Given the description of an element on the screen output the (x, y) to click on. 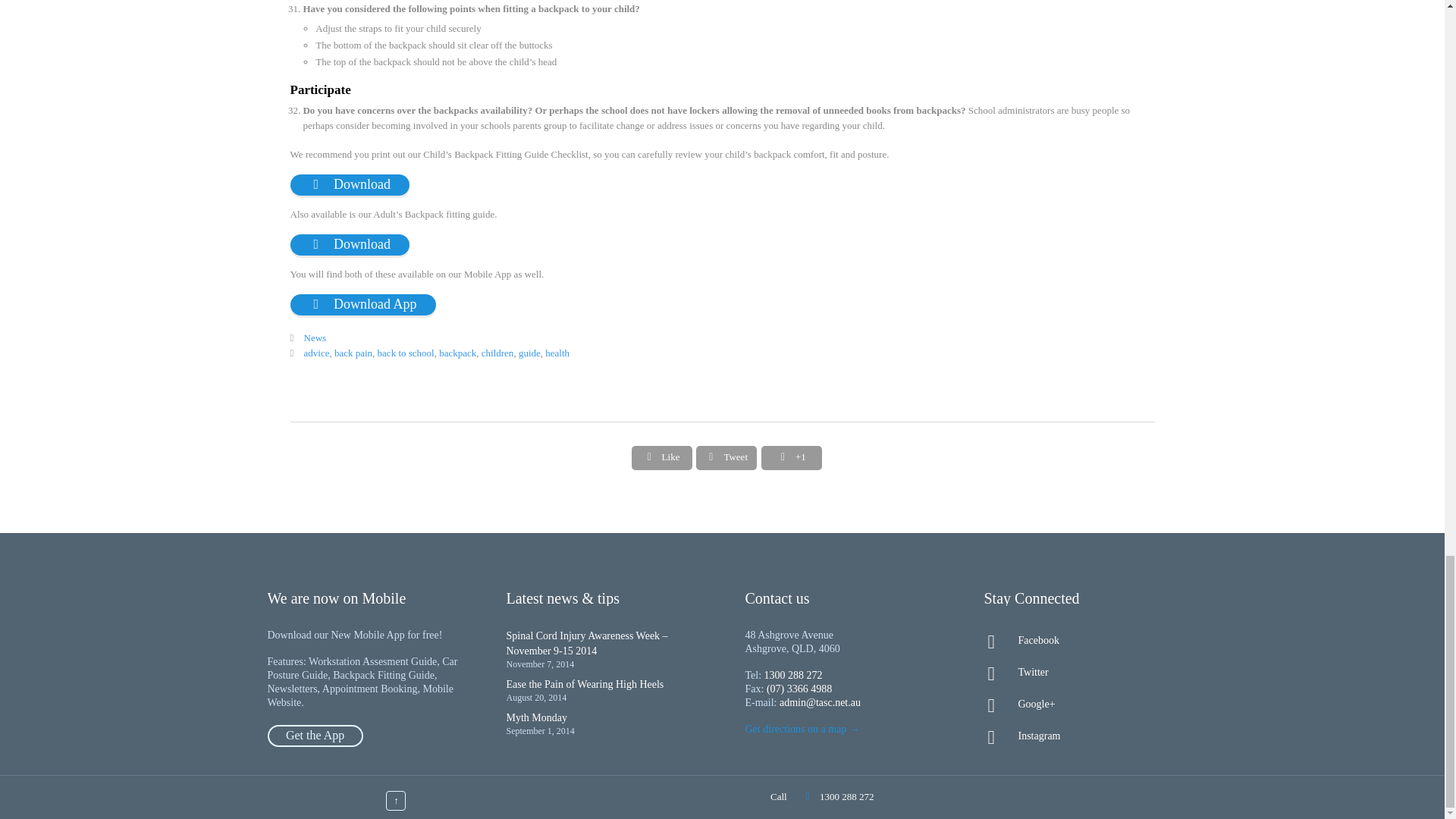
Share on Twitter (726, 456)
Share on Google Plus (791, 456)
Myth Monday (536, 717)
Facebook (1080, 640)
Ease the Pain of Wearing High Heels (584, 684)
Instagram (1080, 735)
Twitter (1080, 672)
Share on Facebook (662, 456)
